Given the description of an element on the screen output the (x, y) to click on. 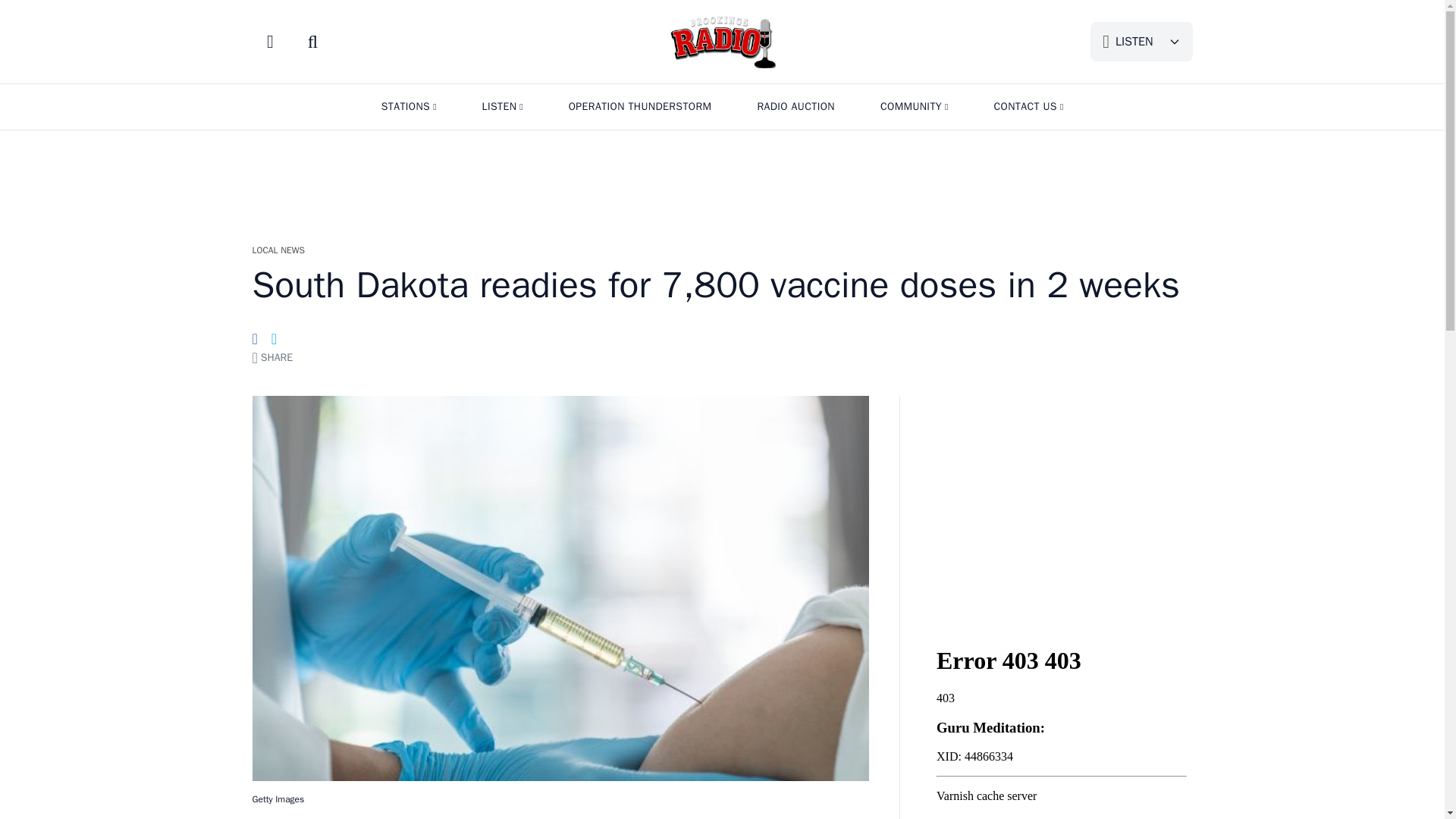
3rd party ad content (721, 179)
3rd party ad content (1060, 505)
